Given the description of an element on the screen output the (x, y) to click on. 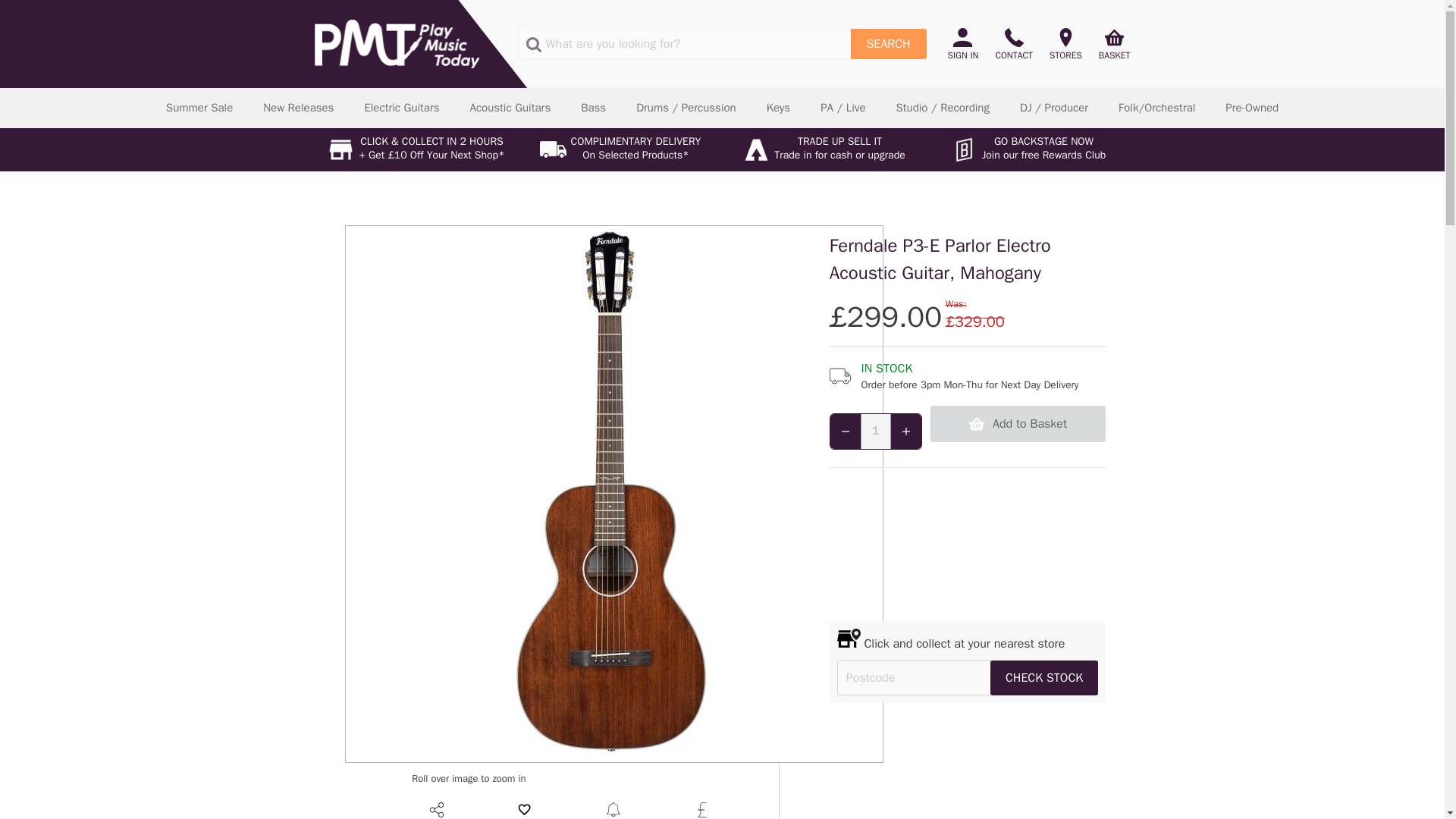
SEARCH (888, 43)
STORES (1065, 43)
Availability (967, 376)
BASKET (1110, 43)
Add to Basket (1017, 423)
 Logo (396, 43)
Search (888, 43)
CONTACT (1014, 43)
SIGN IN (967, 43)
Sign in to my account (967, 43)
Summer Sale (199, 107)
